Given the description of an element on the screen output the (x, y) to click on. 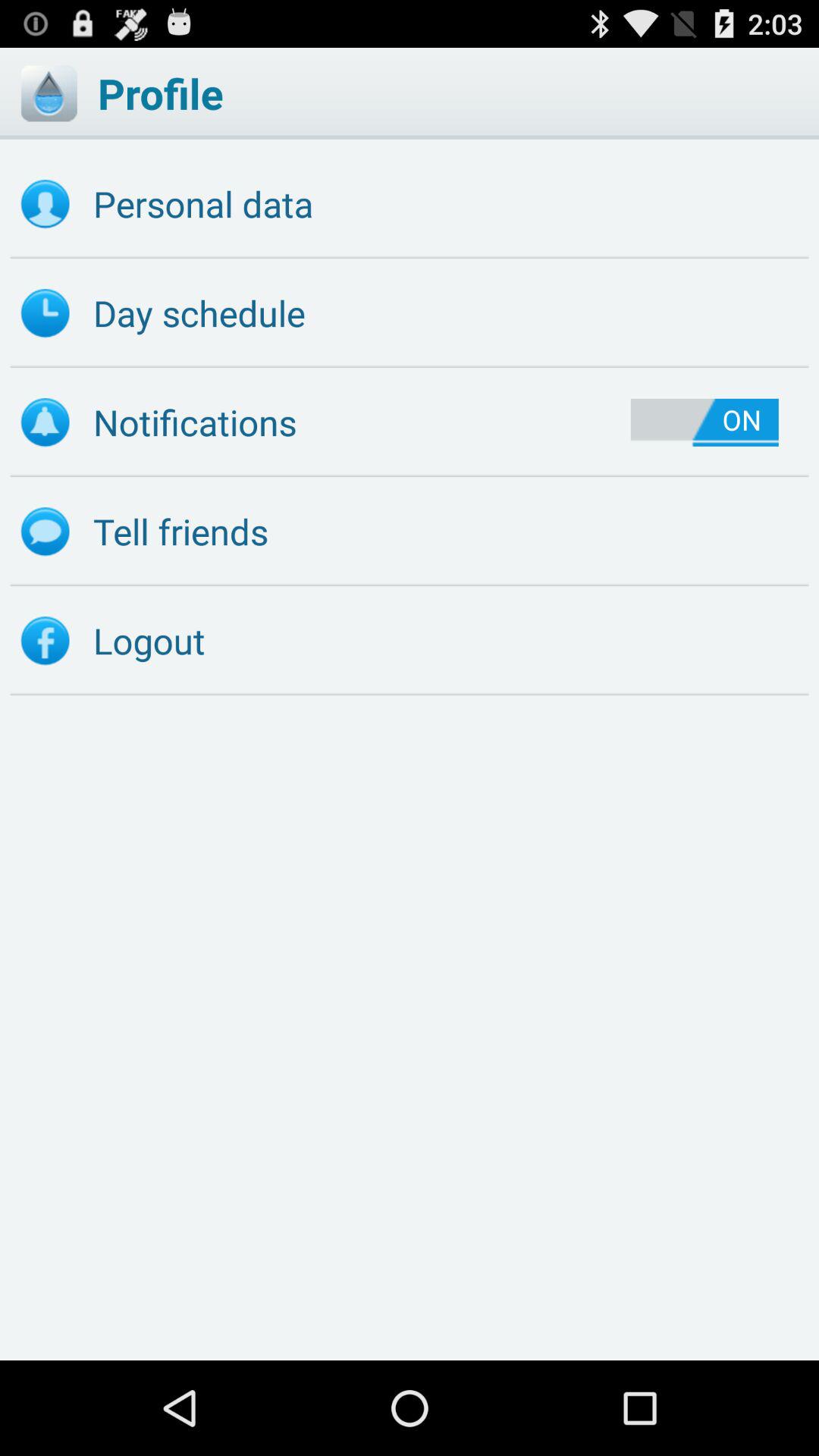
show menu (48, 93)
